Given the description of an element on the screen output the (x, y) to click on. 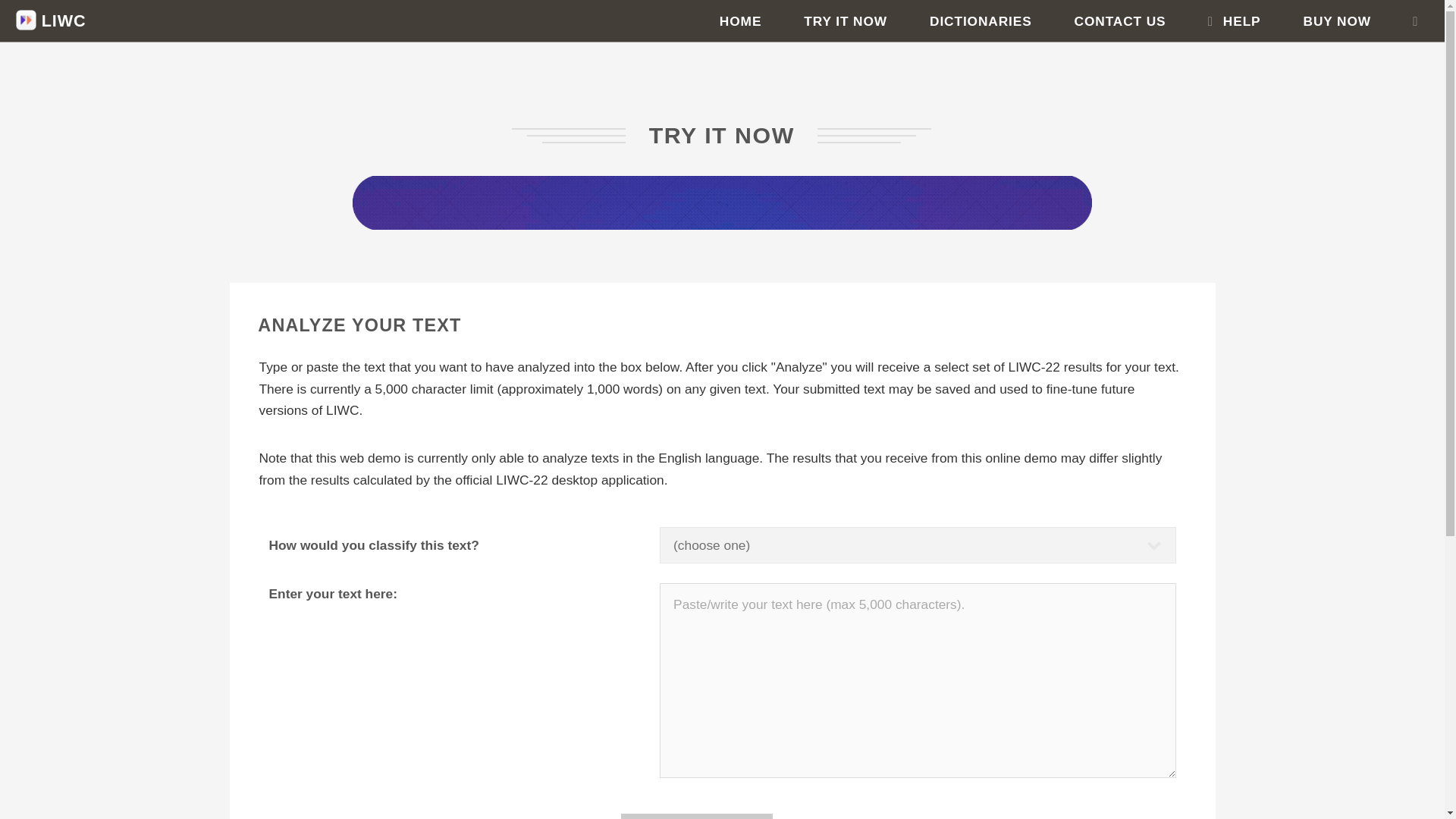
BUY NOW (1337, 21)
CONTACT US (1120, 21)
HOME (740, 21)
LIWC (50, 20)
DICTIONARIES (981, 21)
Analyze Text (697, 816)
HELP (1234, 21)
Analyze Text (697, 816)
TRY IT NOW (845, 21)
